Given the description of an element on the screen output the (x, y) to click on. 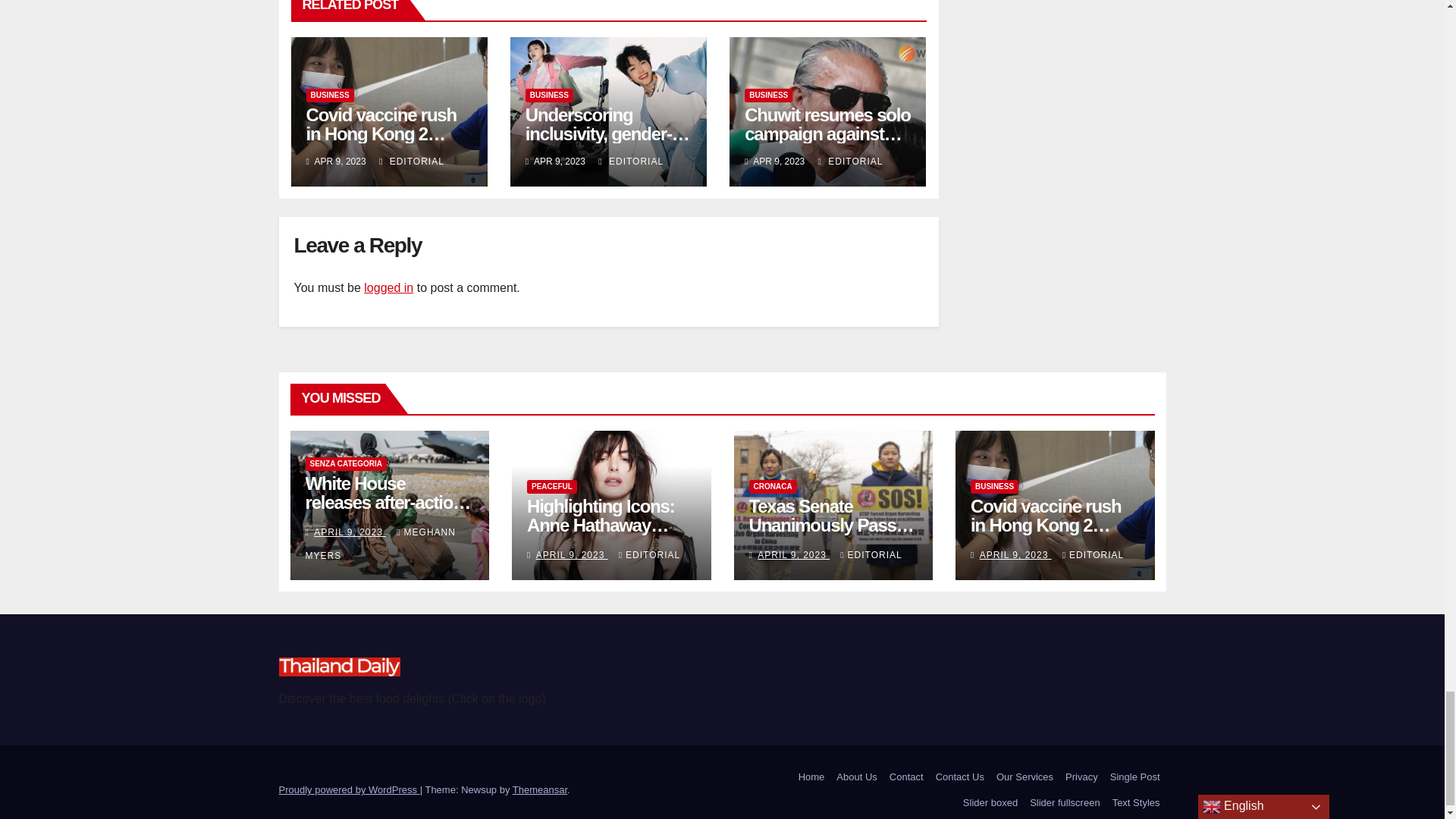
EDITORIAL (411, 161)
EDITORIAL (630, 161)
BUSINESS (549, 95)
BUSINESS (329, 95)
BUSINESS (768, 95)
